Given the description of an element on the screen output the (x, y) to click on. 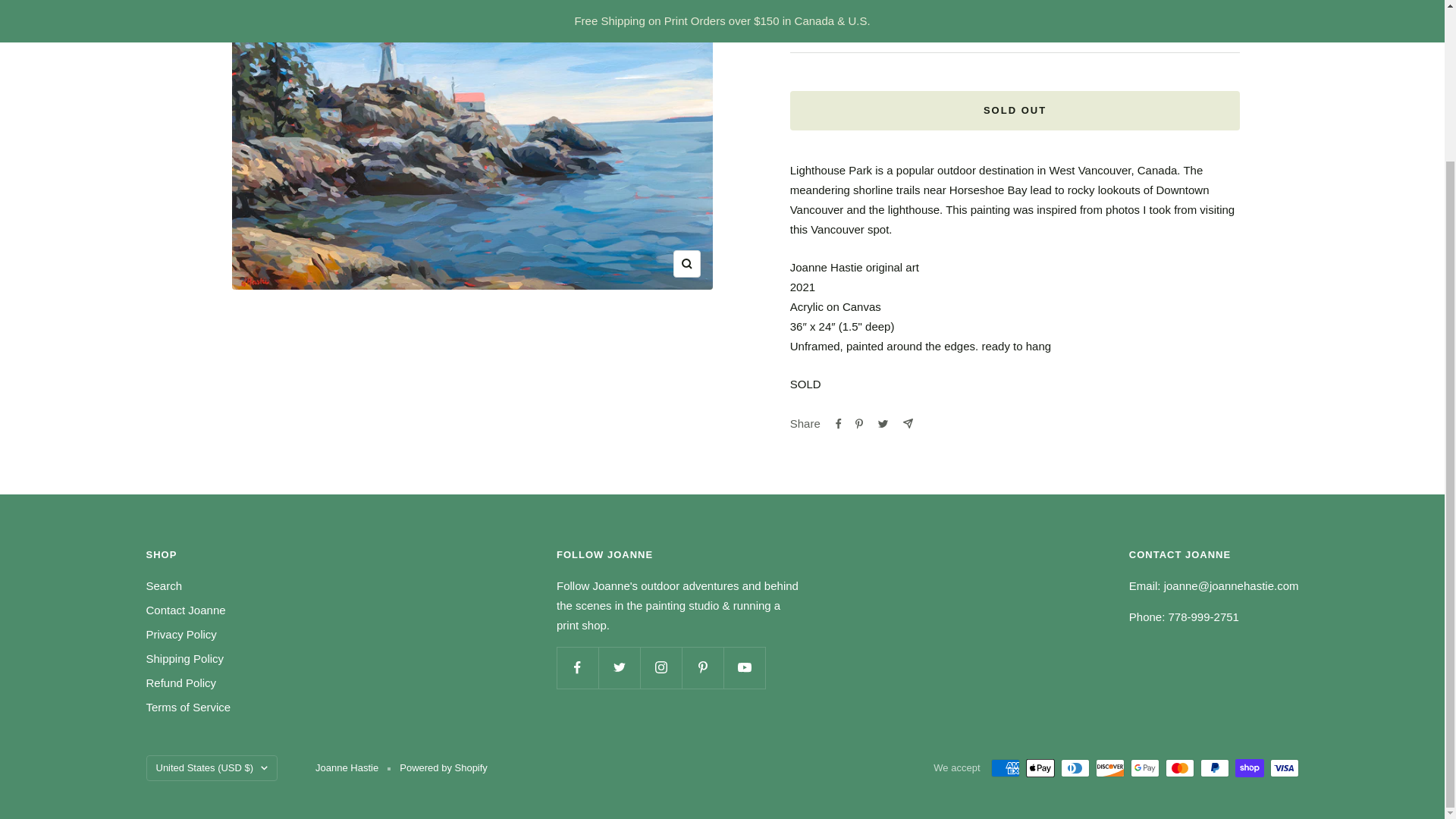
Contact Joanne (185, 609)
Privacy Policy (180, 634)
SOLD OUT (1015, 110)
Search (163, 586)
Zoom (686, 263)
